Given the description of an element on the screen output the (x, y) to click on. 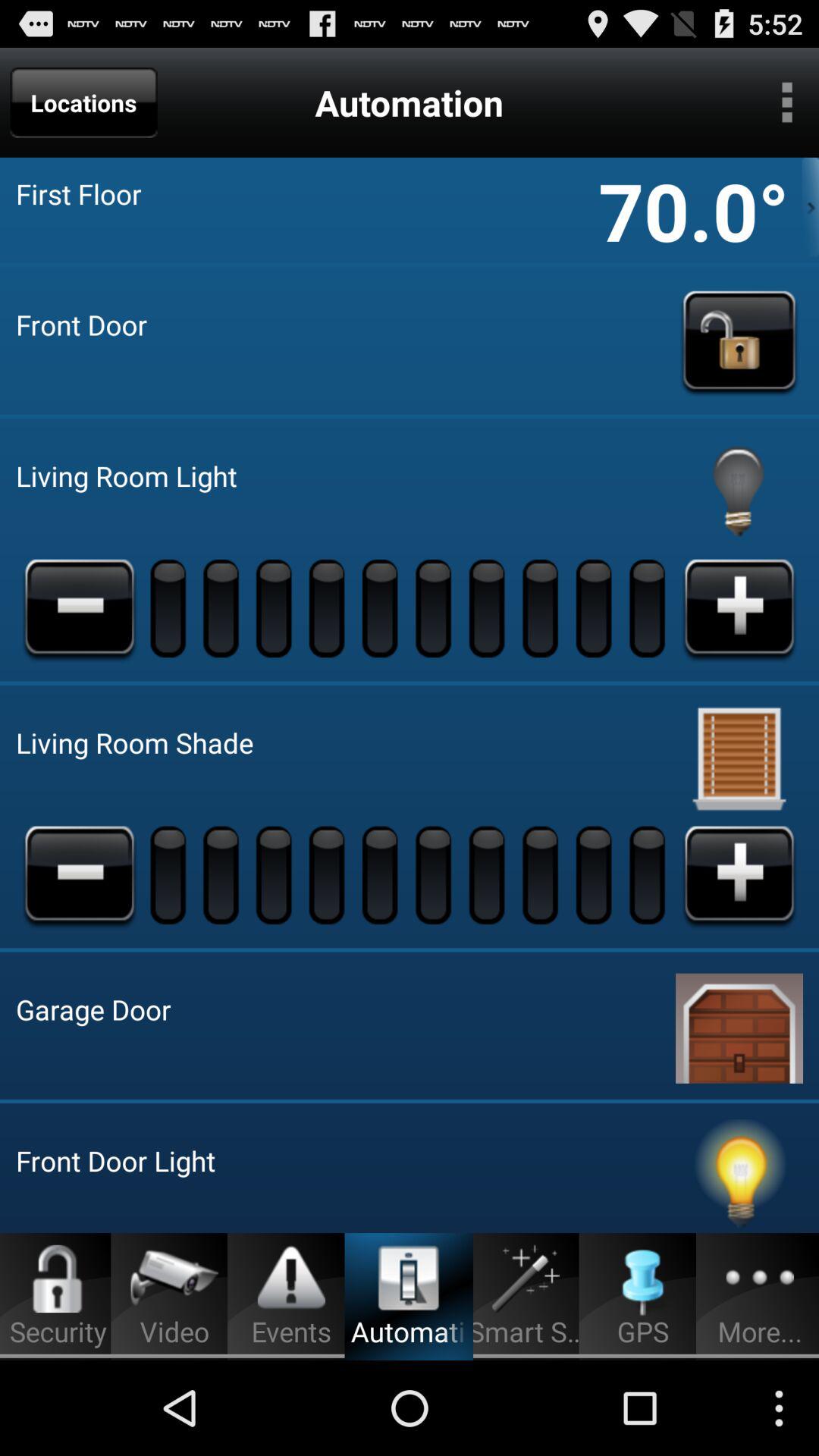
light brightness increase (739, 607)
